Given the description of an element on the screen output the (x, y) to click on. 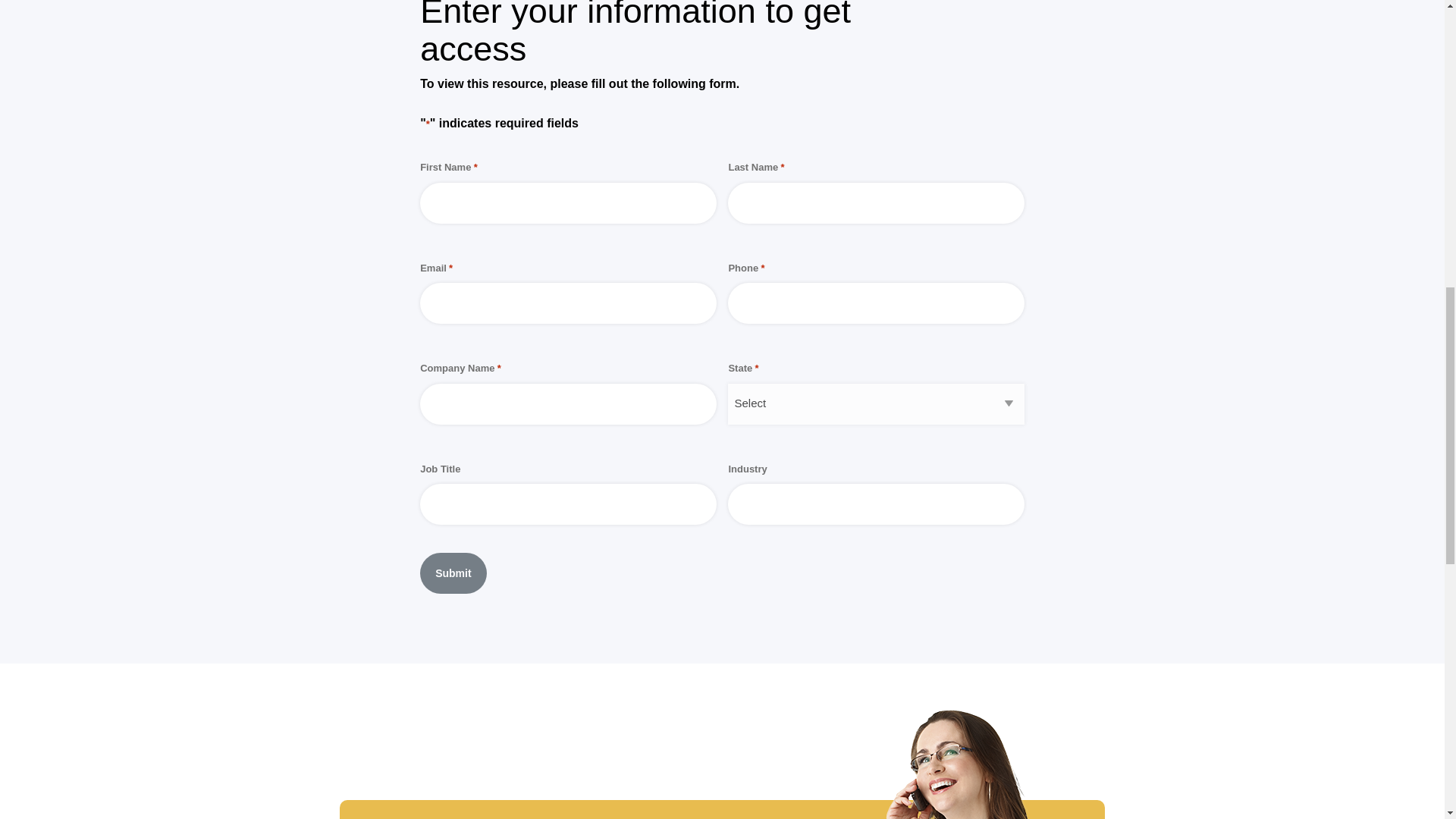
Submit (453, 572)
